Given the description of an element on the screen output the (x, y) to click on. 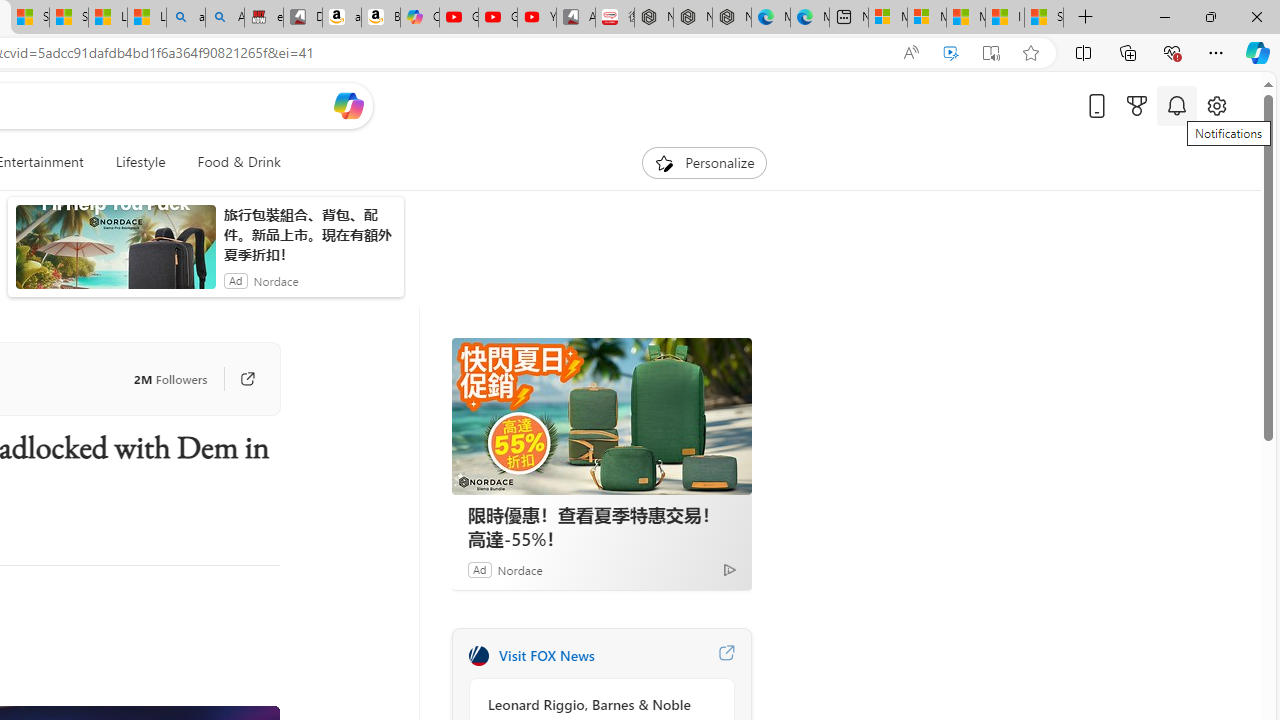
Microsoft account | Privacy (926, 17)
amazon - Search (185, 17)
Gloom - YouTube (497, 17)
Open settings (1216, 105)
amazon.in/dp/B0CX59H5W7/?tag=gsmcom05-21 (341, 17)
